Given the description of an element on the screen output the (x, y) to click on. 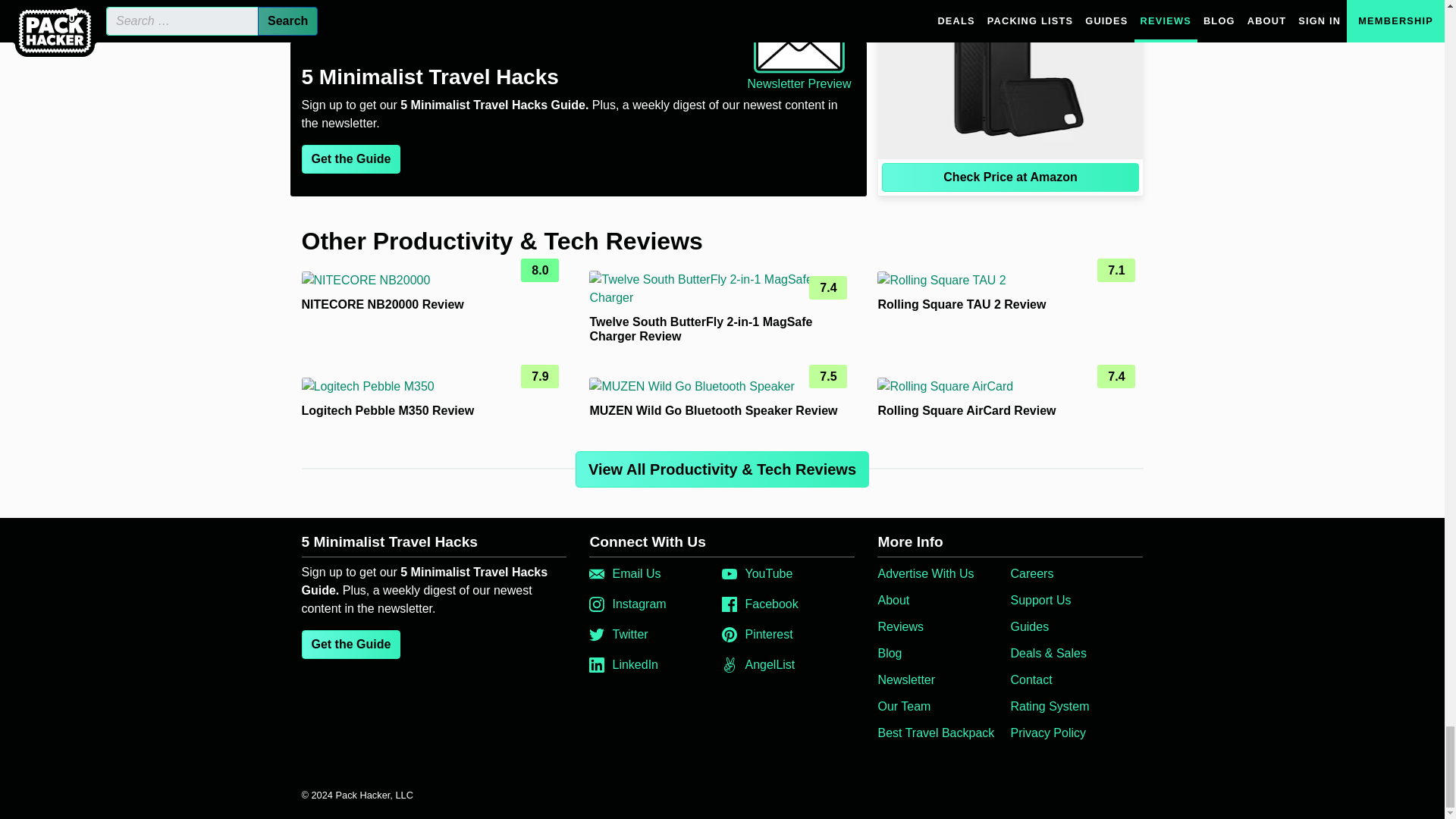
Rolling Square TAU 2 Review (961, 304)
Newsletter Preview (799, 52)
Get the Guide (351, 158)
7.1 (1009, 280)
7.4 (721, 289)
Twelve South ButterFly 2-in-1 MagSafe Charger Review (700, 329)
8.0 (434, 280)
Newsletter Preview (799, 52)
NITECORE NB20000 Review (382, 304)
